Given the description of an element on the screen output the (x, y) to click on. 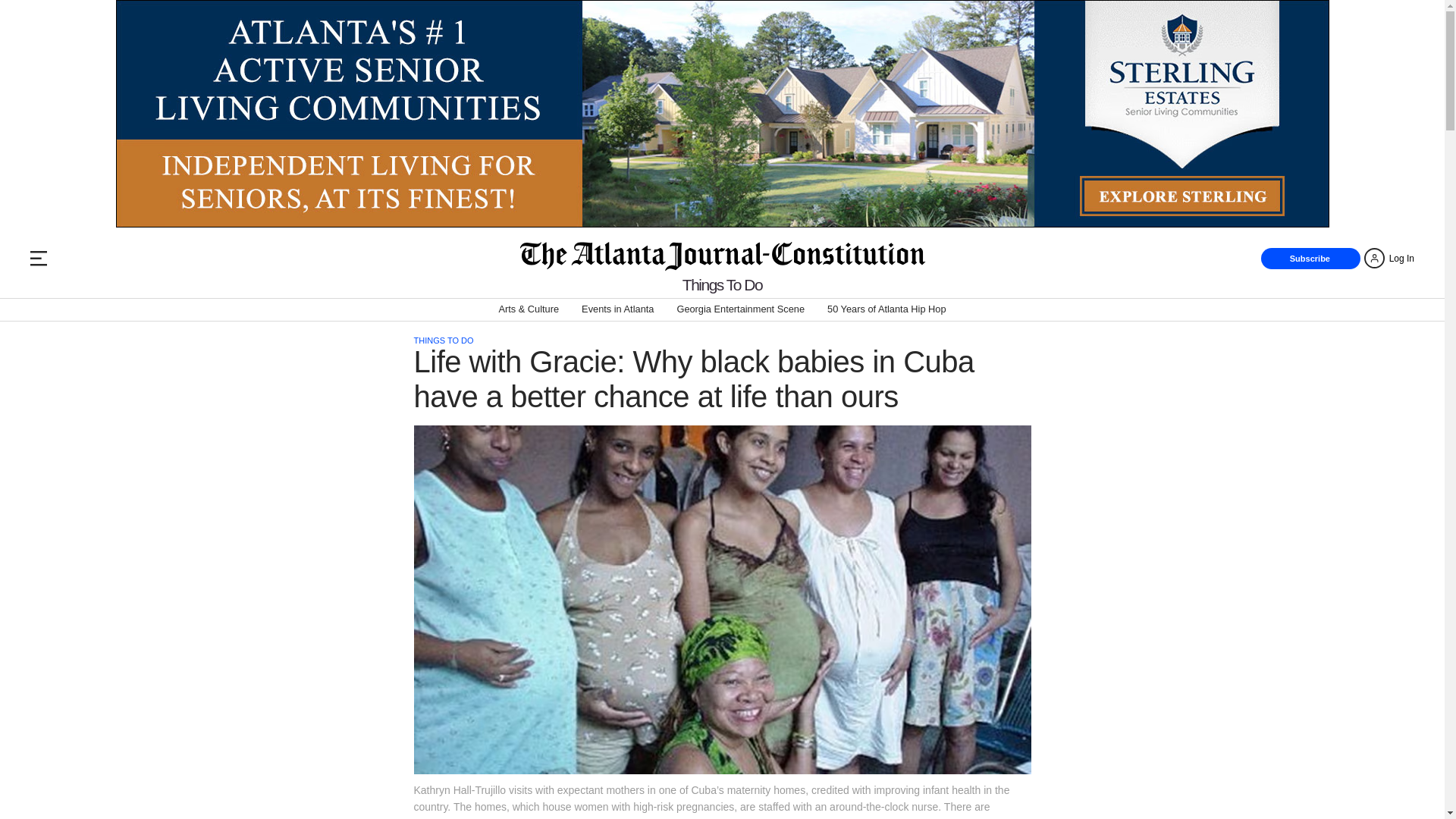
50 Years of Atlanta Hip Hop (886, 309)
Georgia Entertainment Scene (741, 309)
Events in Atlanta (616, 309)
Things To Do (721, 284)
